Given the description of an element on the screen output the (x, y) to click on. 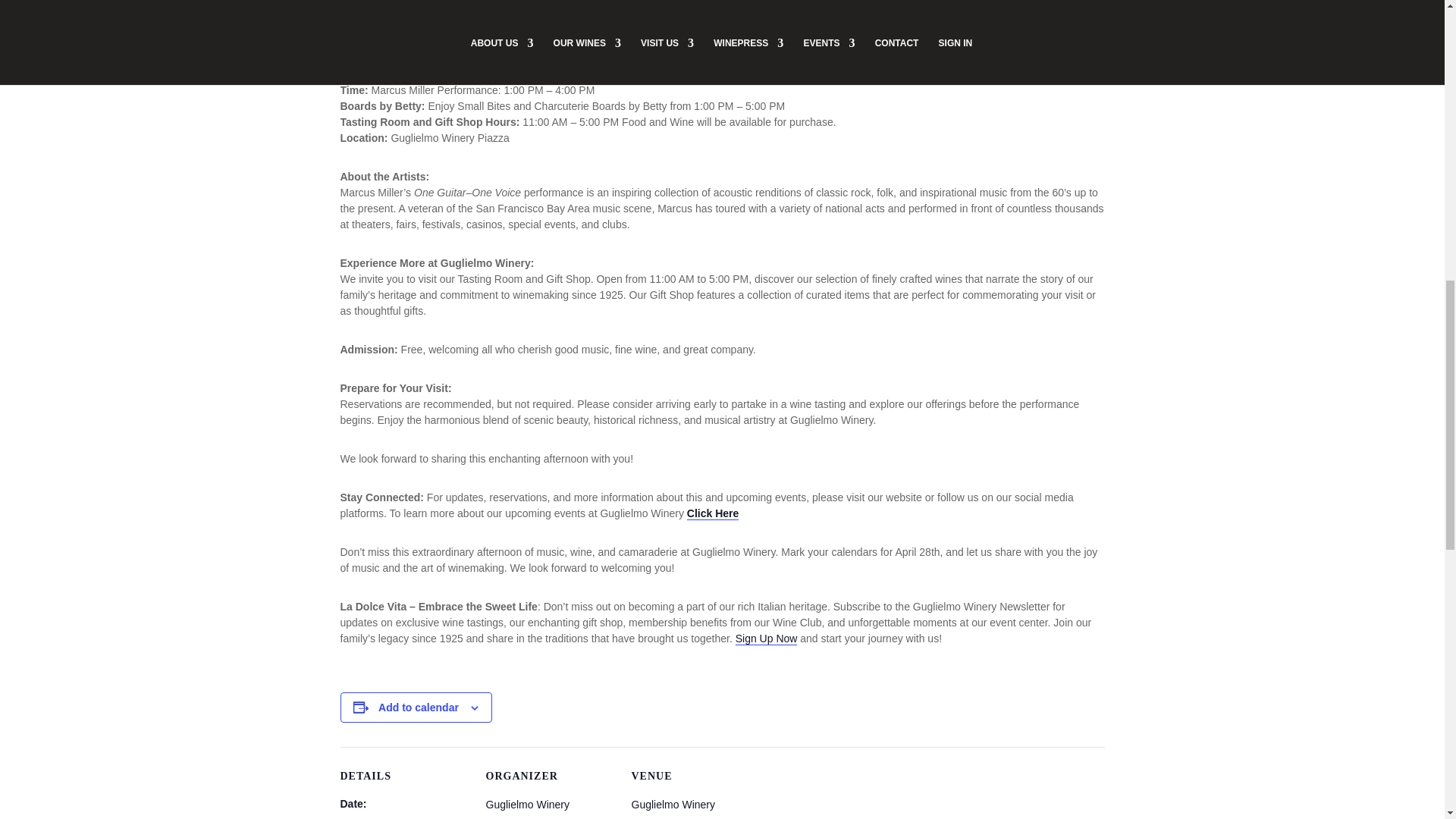
Sign Up Now (766, 638)
Add to calendar (418, 707)
Click Here (712, 513)
